Given the description of an element on the screen output the (x, y) to click on. 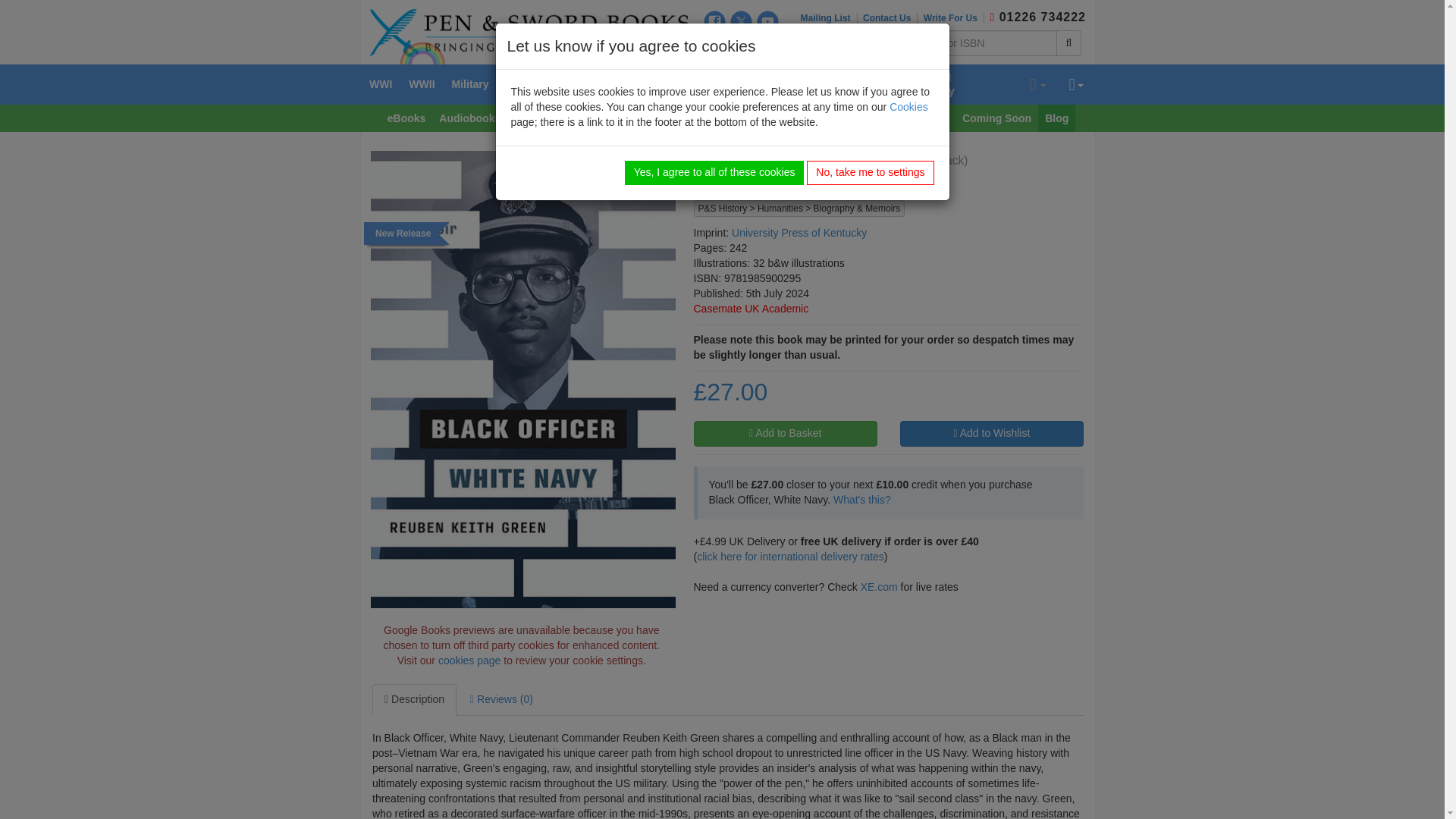
Contact Us (890, 18)
X (741, 21)
Mailing List (828, 18)
TikTok (741, 45)
NetGalley (767, 45)
Facebook (714, 21)
YouTube (767, 21)
Your basket is empty (1037, 84)
Instagram (714, 45)
Write For Us (953, 18)
